Given the description of an element on the screen output the (x, y) to click on. 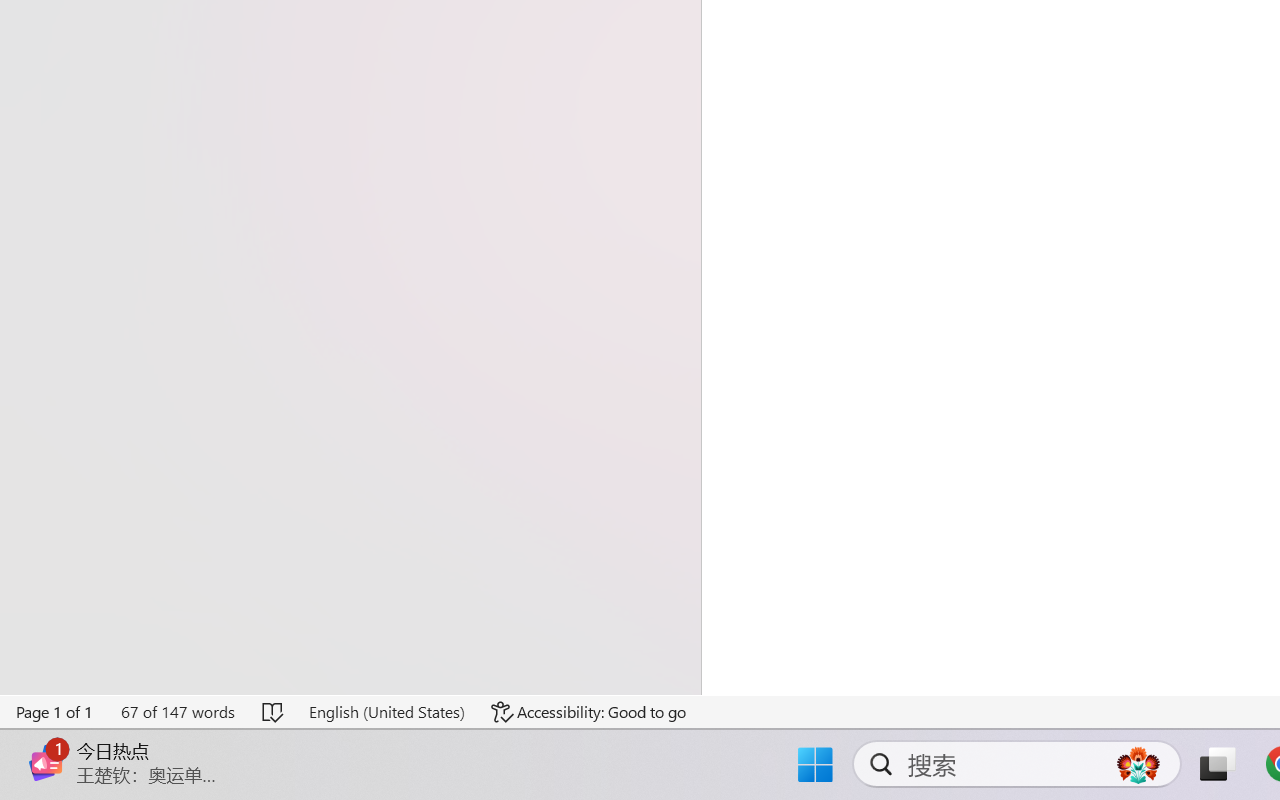
Page Number Page 1 of 1 (55, 712)
